Given the description of an element on the screen output the (x, y) to click on. 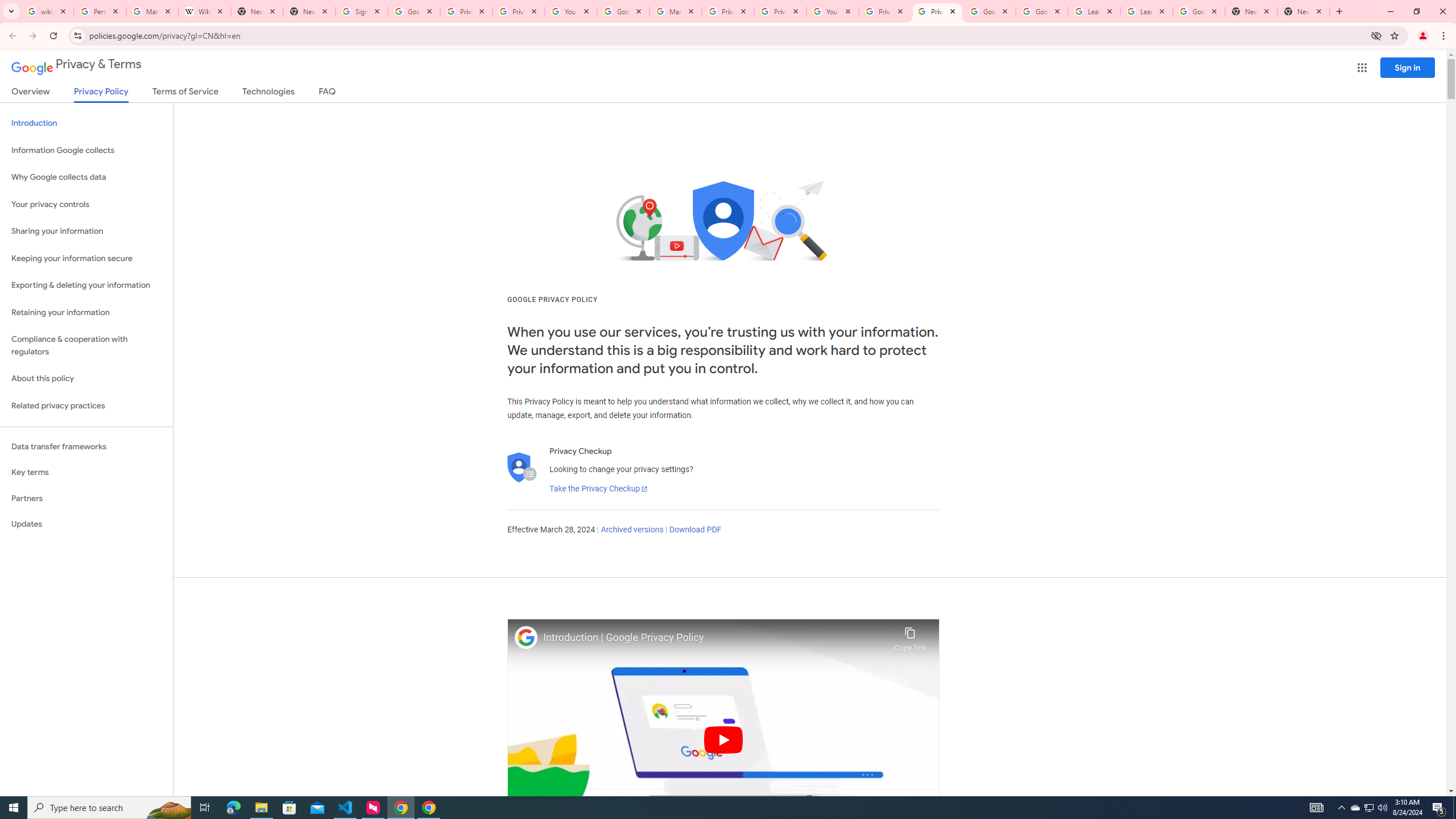
Copy link (909, 636)
Personalization & Google Search results - Google Search Help (99, 11)
YouTube (831, 11)
